Given the description of an element on the screen output the (x, y) to click on. 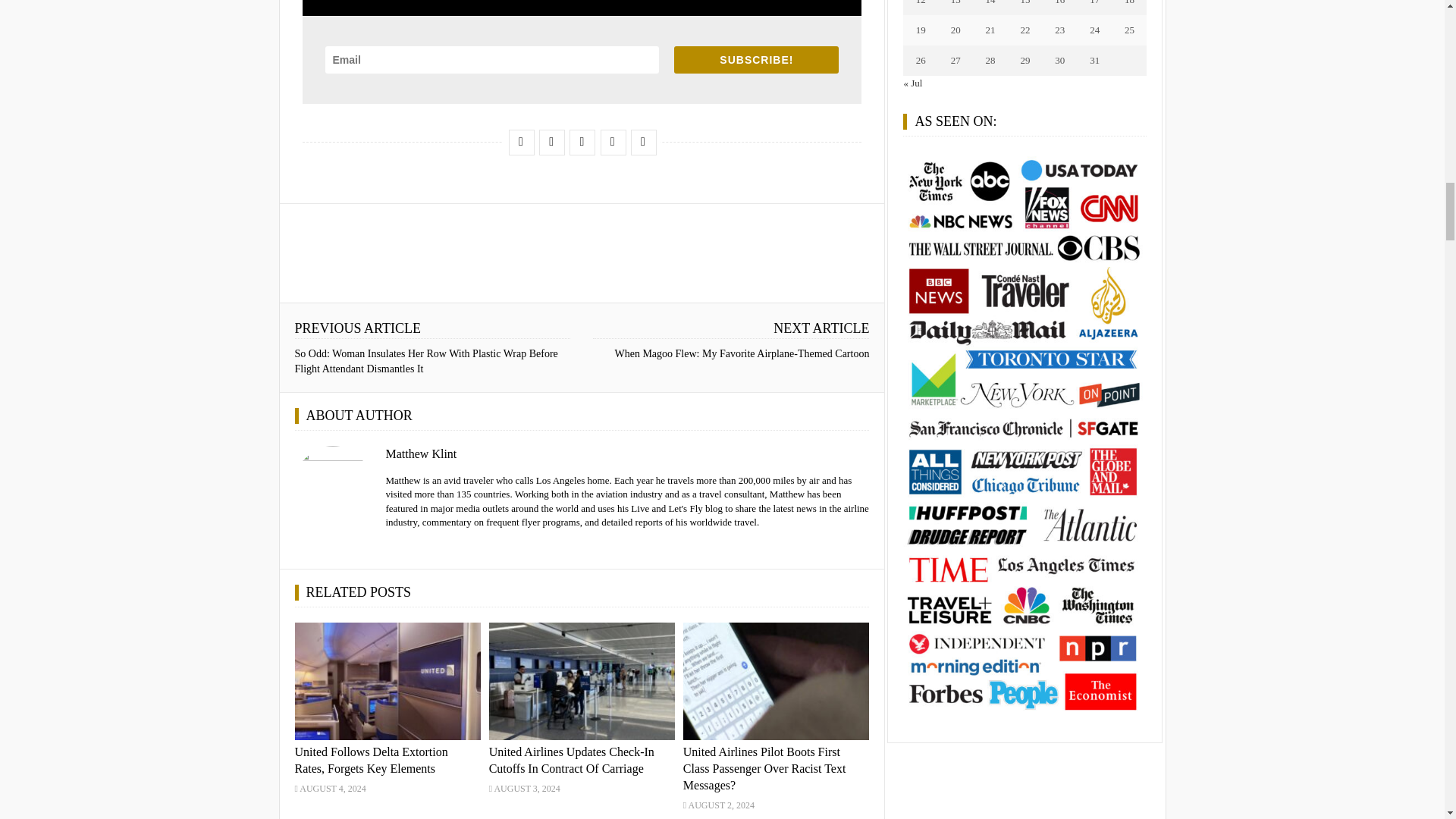
SUBSCRIBE! (756, 59)
United Follows Delta Extortion Rates, Forgets Key Elements (370, 759)
United Follows Delta Extortion Rates, Forgets Key Elements (387, 681)
